Given the description of an element on the screen output the (x, y) to click on. 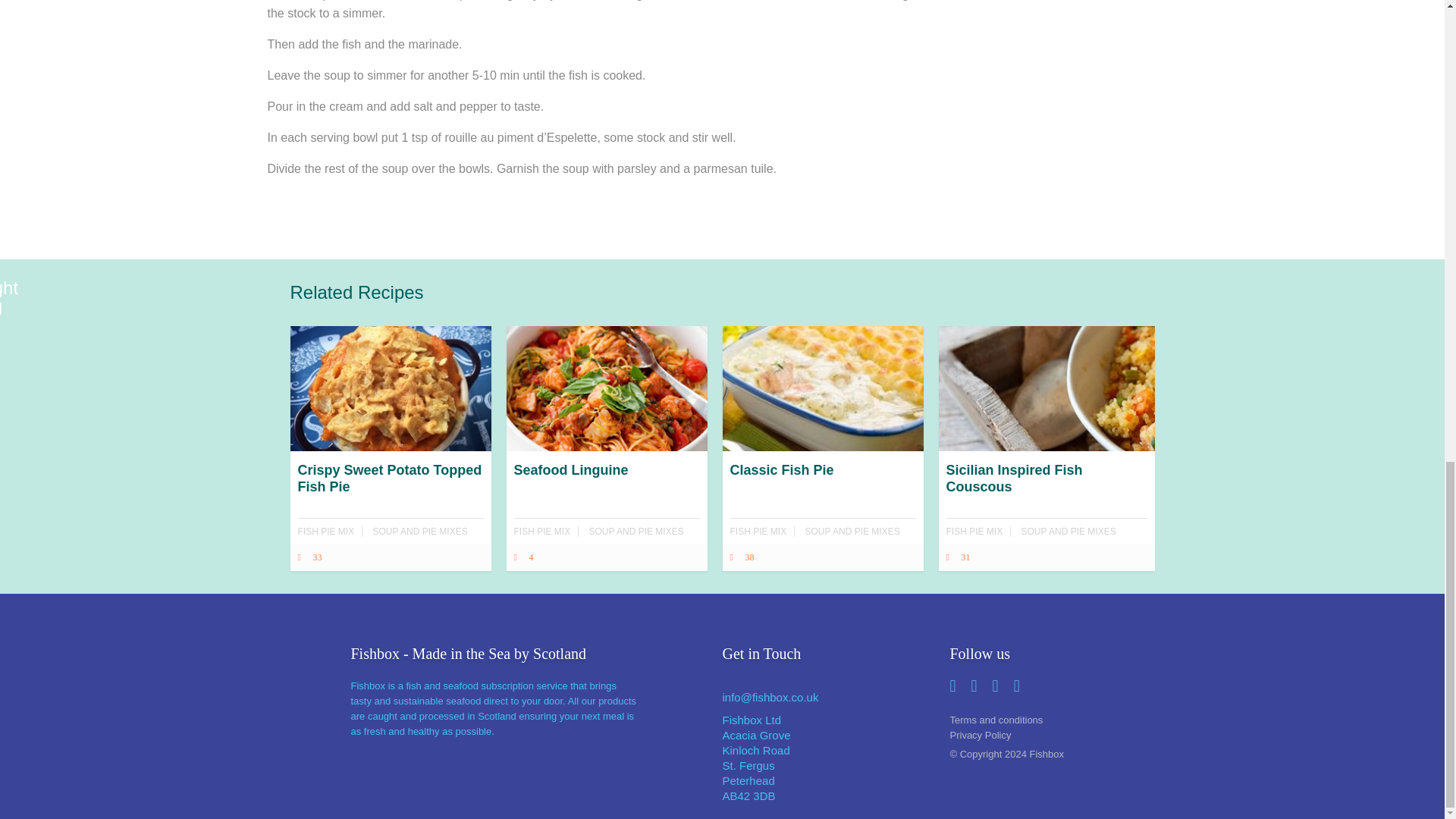
See more Soup and Pie mixes recipes (1069, 531)
Classic Fish Pie (822, 497)
SOUP AND PIE MIXES (852, 531)
See more Fish pie mix recipes (974, 531)
Privacy Policy (1062, 731)
See more Fish pie mix recipes (757, 531)
SOUP AND PIE MIXES (1069, 531)
FISH PIE MIX (325, 531)
See more Fish pie mix recipes (541, 531)
See more Soup and Pie mixes recipes (852, 531)
FISH PIE MIX (541, 531)
SOUP AND PIE MIXES (419, 531)
See more Soup and Pie mixes recipes (419, 531)
Crispy Sweet Potato Topped Fish Pie (389, 505)
Sicilian Inspired Fish Couscous (1046, 505)
